Given the description of an element on the screen output the (x, y) to click on. 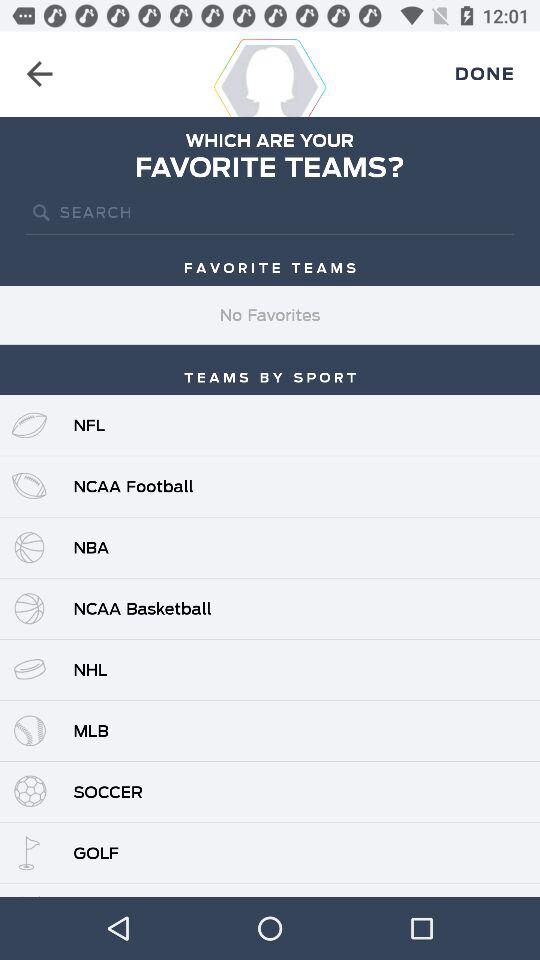
go back (39, 73)
